Given the description of an element on the screen output the (x, y) to click on. 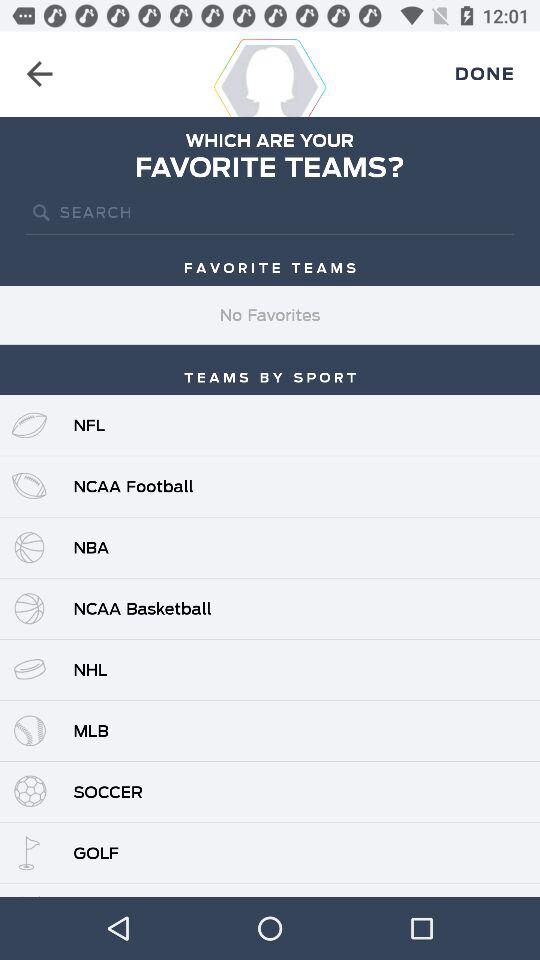
go back (39, 73)
